Given the description of an element on the screen output the (x, y) to click on. 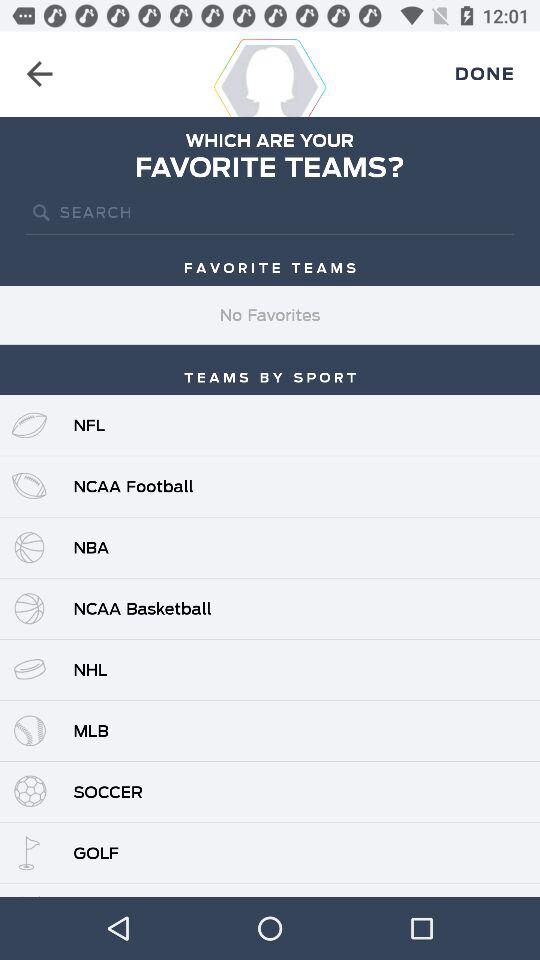
go back (39, 73)
